Given the description of an element on the screen output the (x, y) to click on. 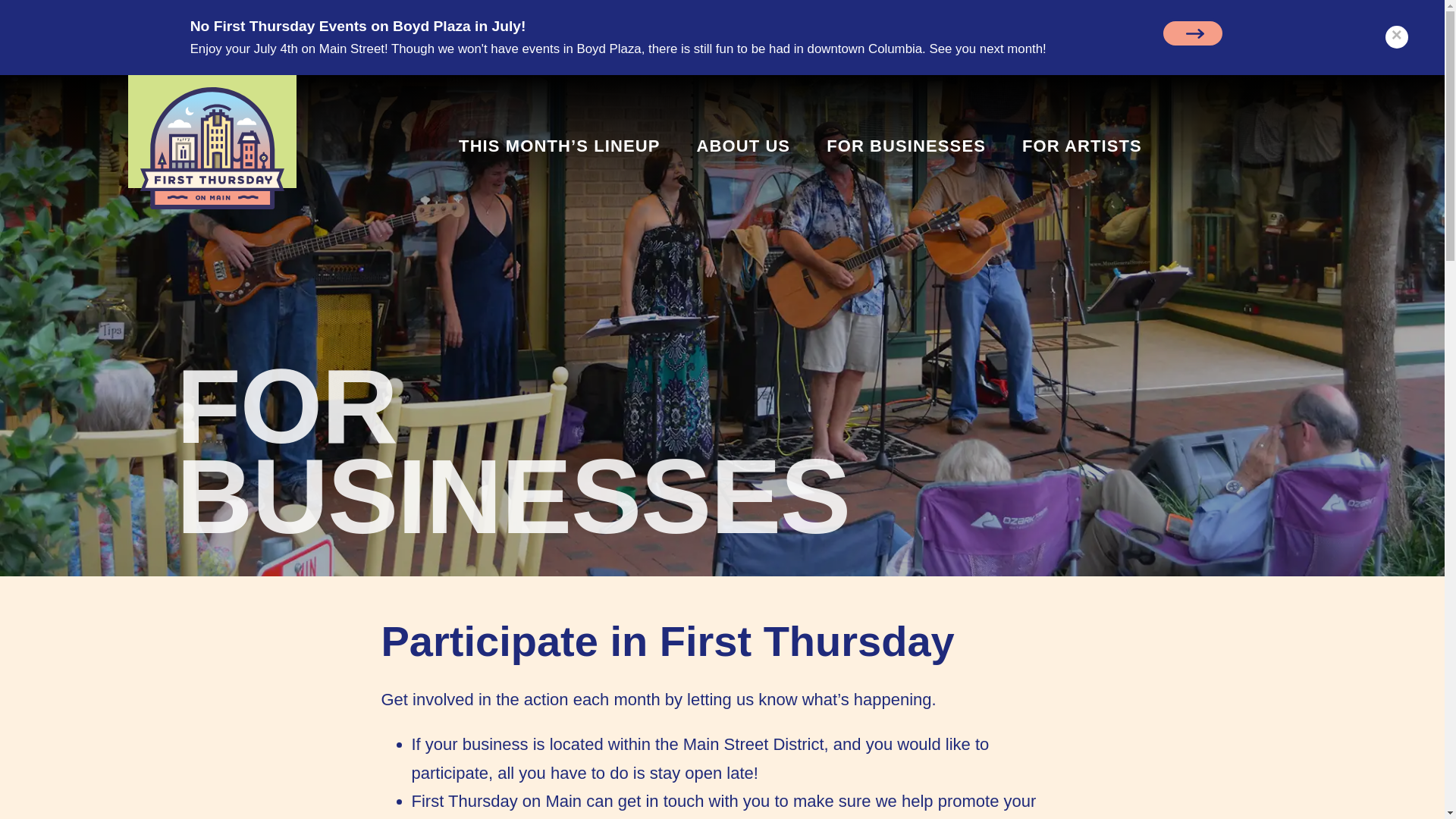
ABOUT US (743, 145)
FOR BUSINESSES (905, 145)
FOR ARTISTS (1082, 145)
